Given the description of an element on the screen output the (x, y) to click on. 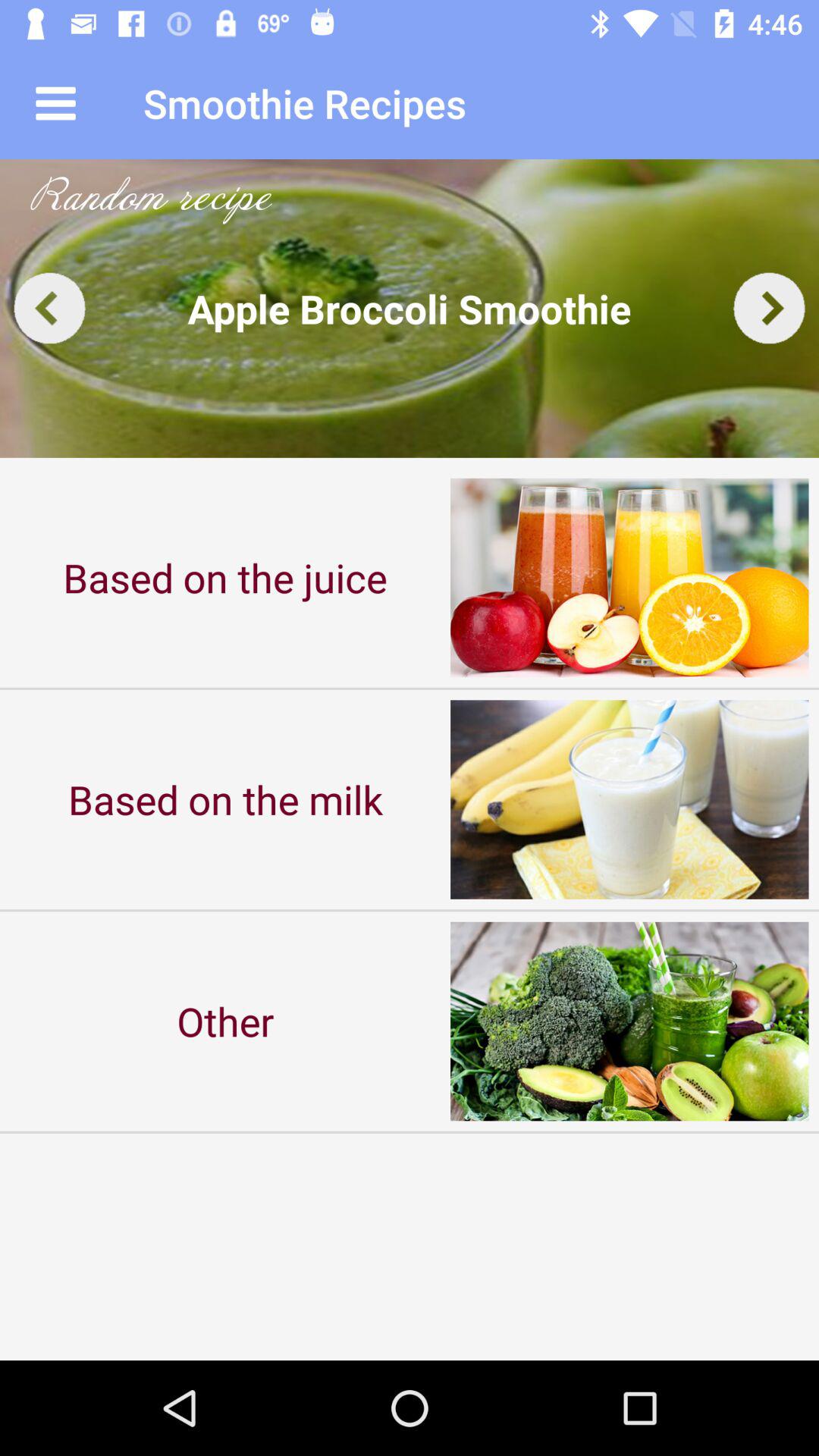
click the auto play (409, 308)
